Given the description of an element on the screen output the (x, y) to click on. 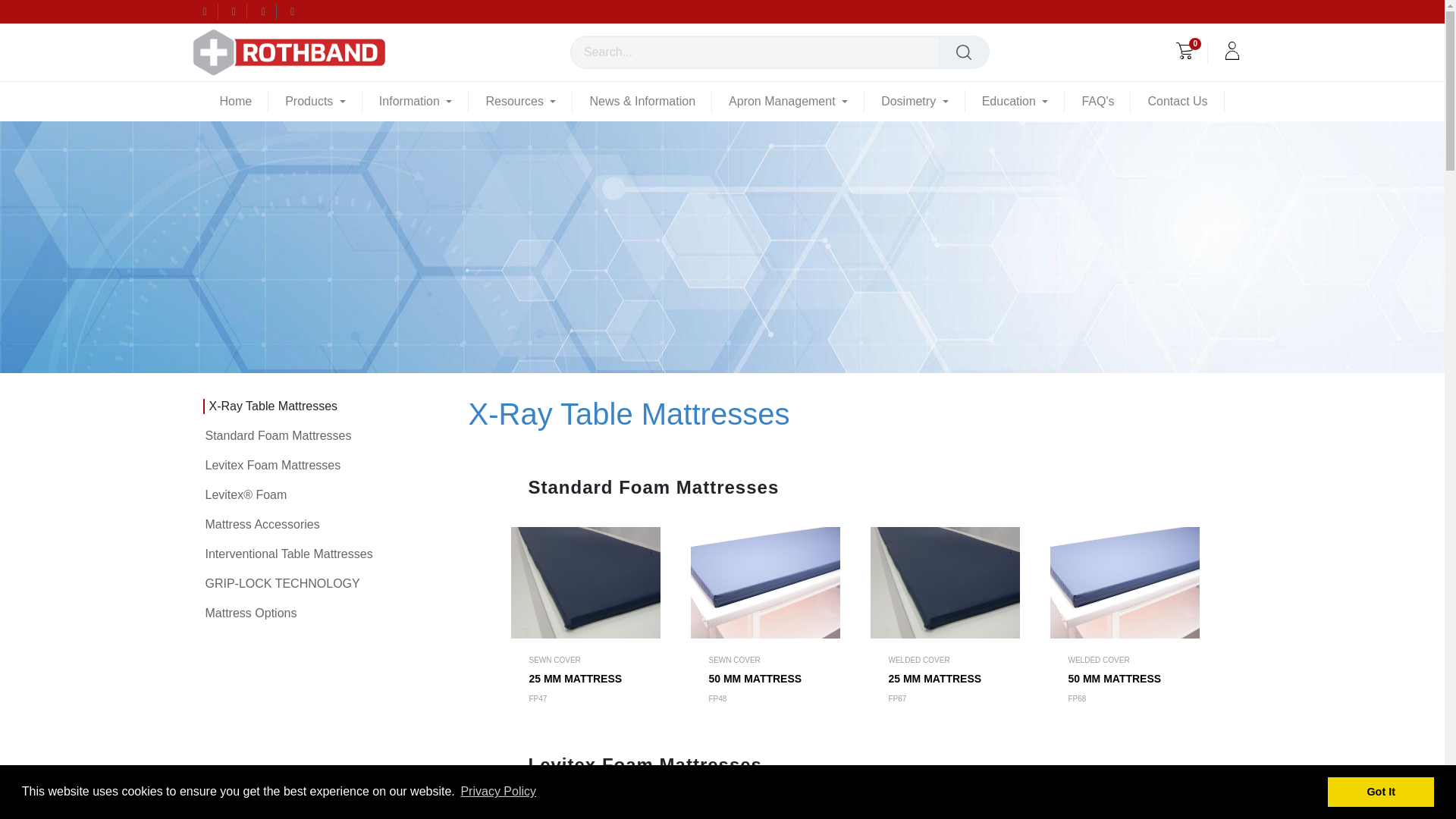
Privacy Policy (498, 791)
Home (236, 100)
0 (1184, 53)
Search (963, 51)
Products (314, 100)
Rothband (268, 51)
Got It (1380, 791)
